Given the description of an element on the screen output the (x, y) to click on. 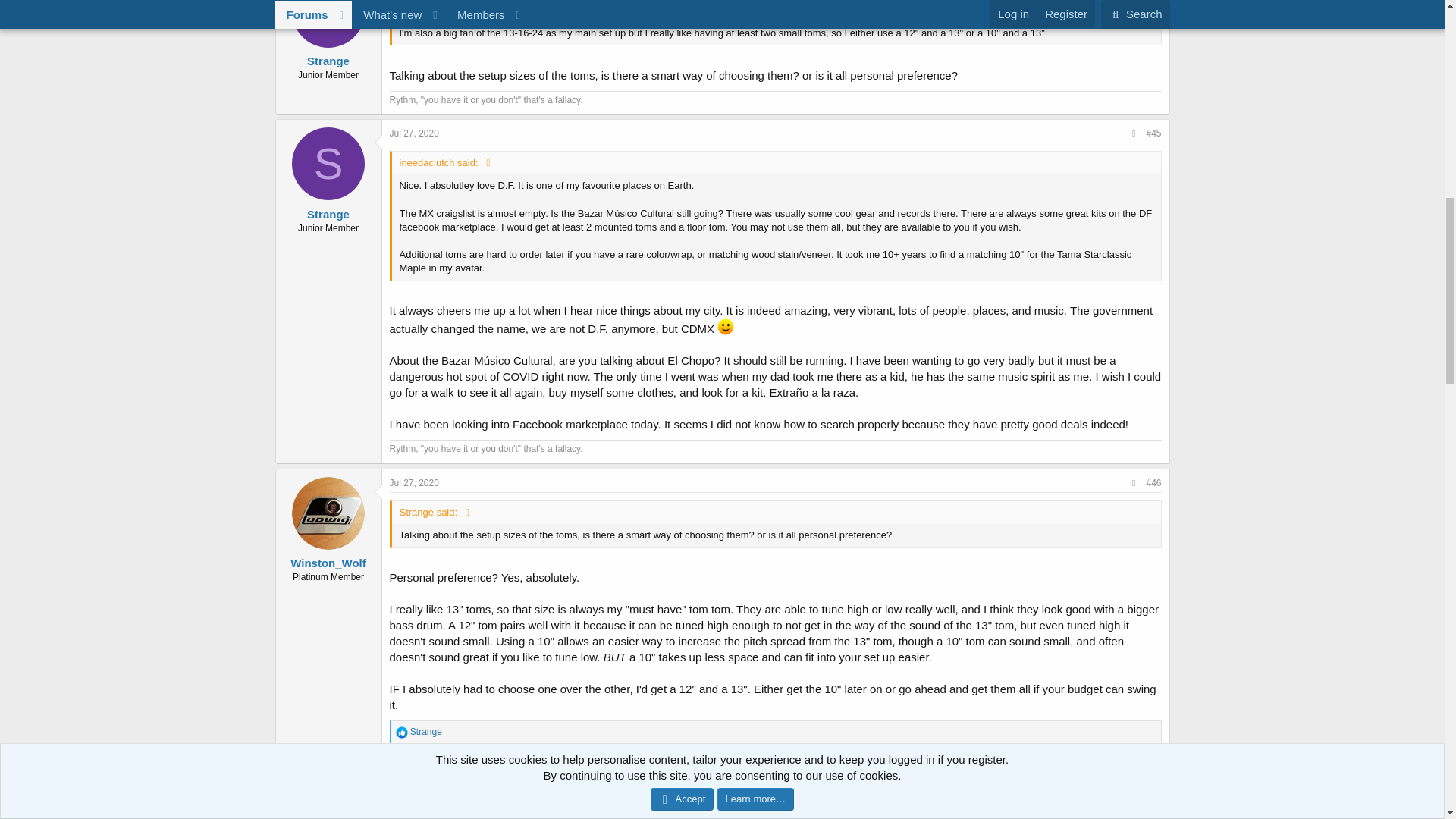
Jul 27, 2020 at 12:14 AM (414, 482)
Jul 27, 2020 at 12:27 AM (414, 770)
Like (401, 732)
Jul 27, 2020 at 12:10 AM (414, 132)
